Given the description of an element on the screen output the (x, y) to click on. 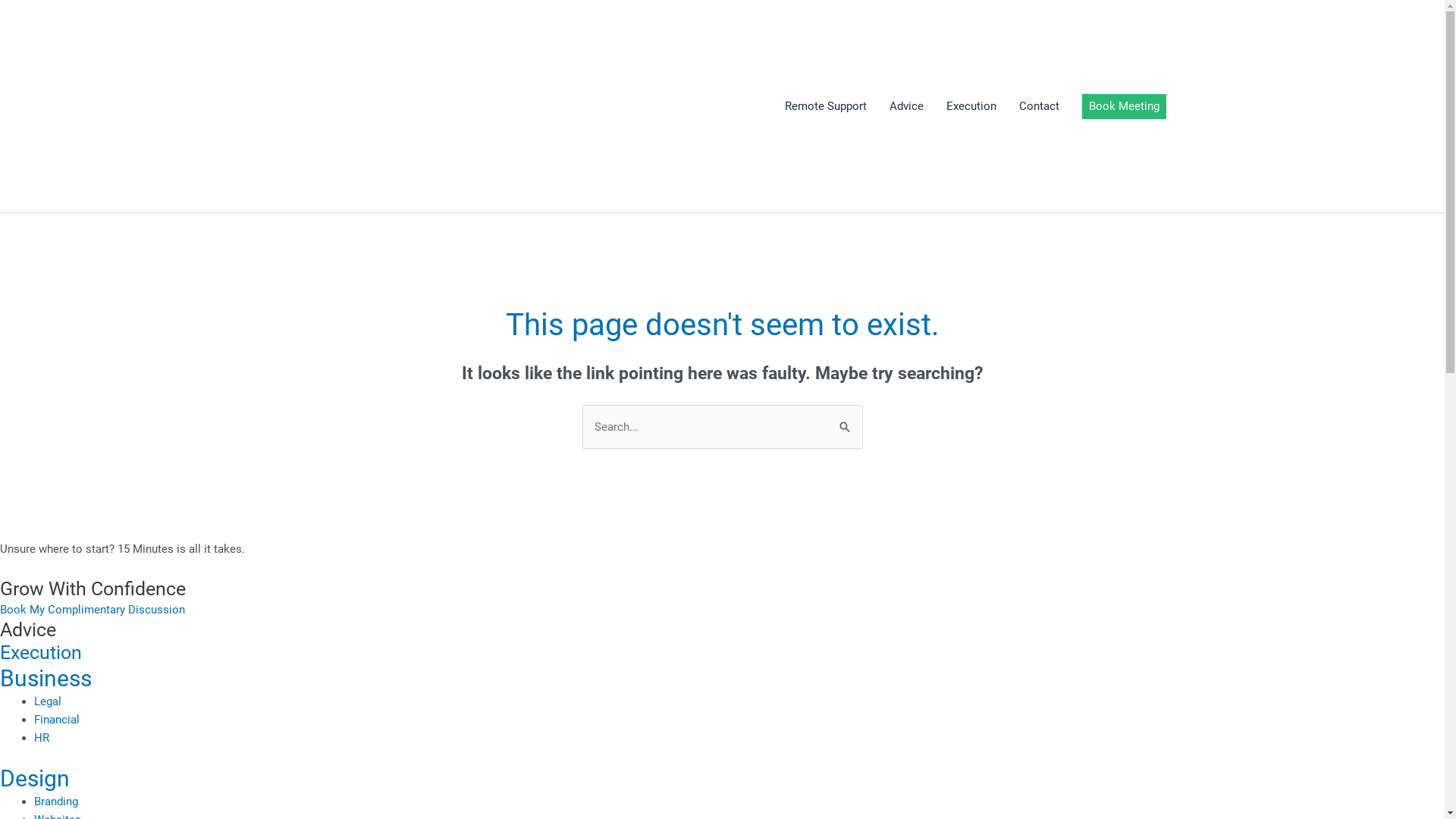
Book My Complimentary Discussion Element type: text (92, 609)
Remote Support Element type: text (825, 106)
Contact Element type: text (1038, 106)
Execution Element type: text (970, 106)
Legal Element type: text (47, 701)
Book Meeting Element type: text (1123, 106)
Design Element type: text (34, 778)
Execution Element type: text (40, 652)
Advice Element type: text (906, 106)
Search Element type: text (845, 420)
Financial Element type: text (56, 719)
Business Element type: text (45, 678)
HR Element type: text (41, 737)
Branding Element type: text (56, 801)
